Given the description of an element on the screen output the (x, y) to click on. 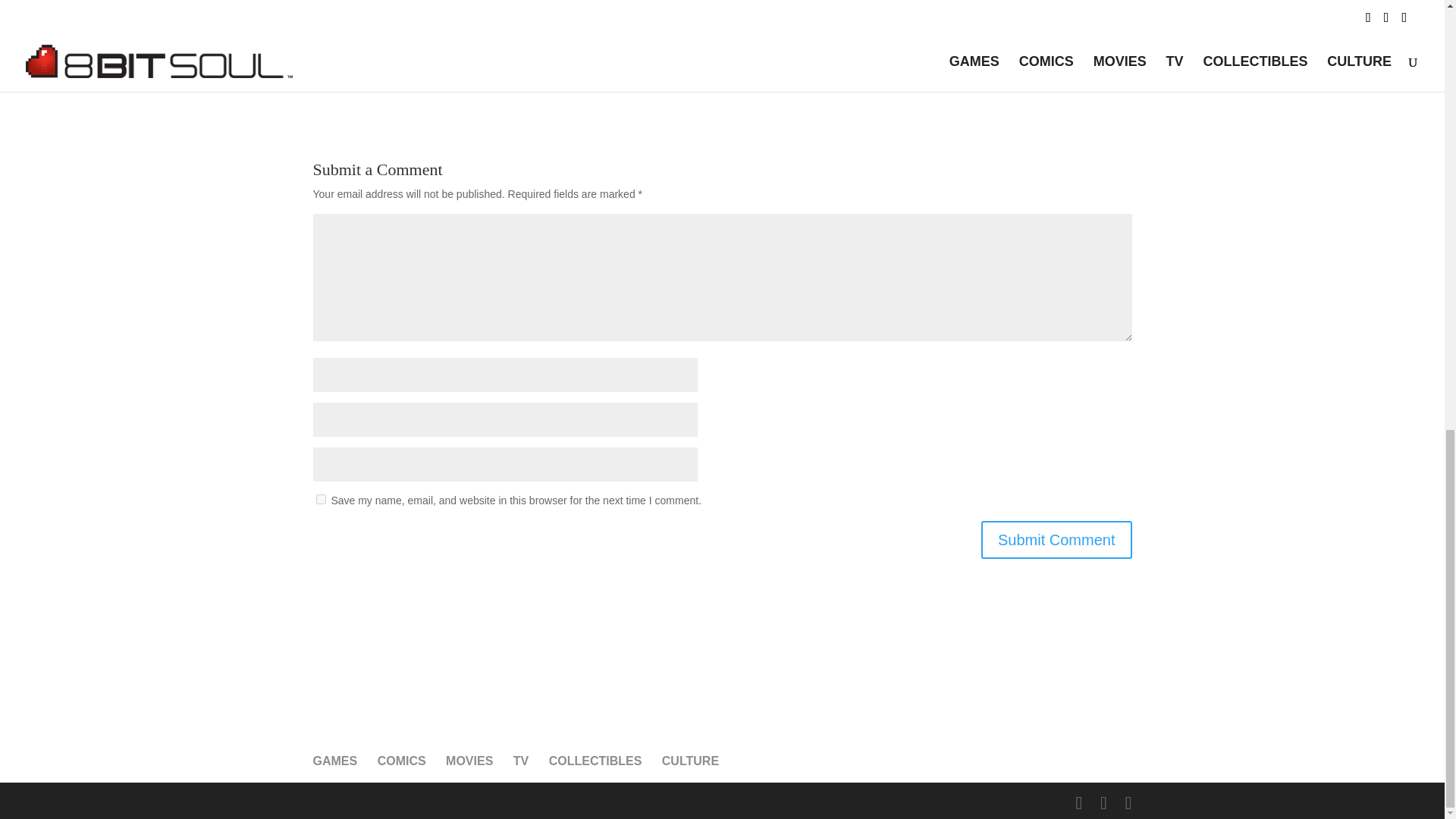
Submit Comment (1056, 539)
TV (520, 760)
yes (319, 499)
Submit Comment (1056, 539)
MOVIES (469, 760)
COLLECTIBLES (595, 760)
GAMES (334, 760)
COMICS (401, 760)
CULTURE (690, 760)
